Given the description of an element on the screen output the (x, y) to click on. 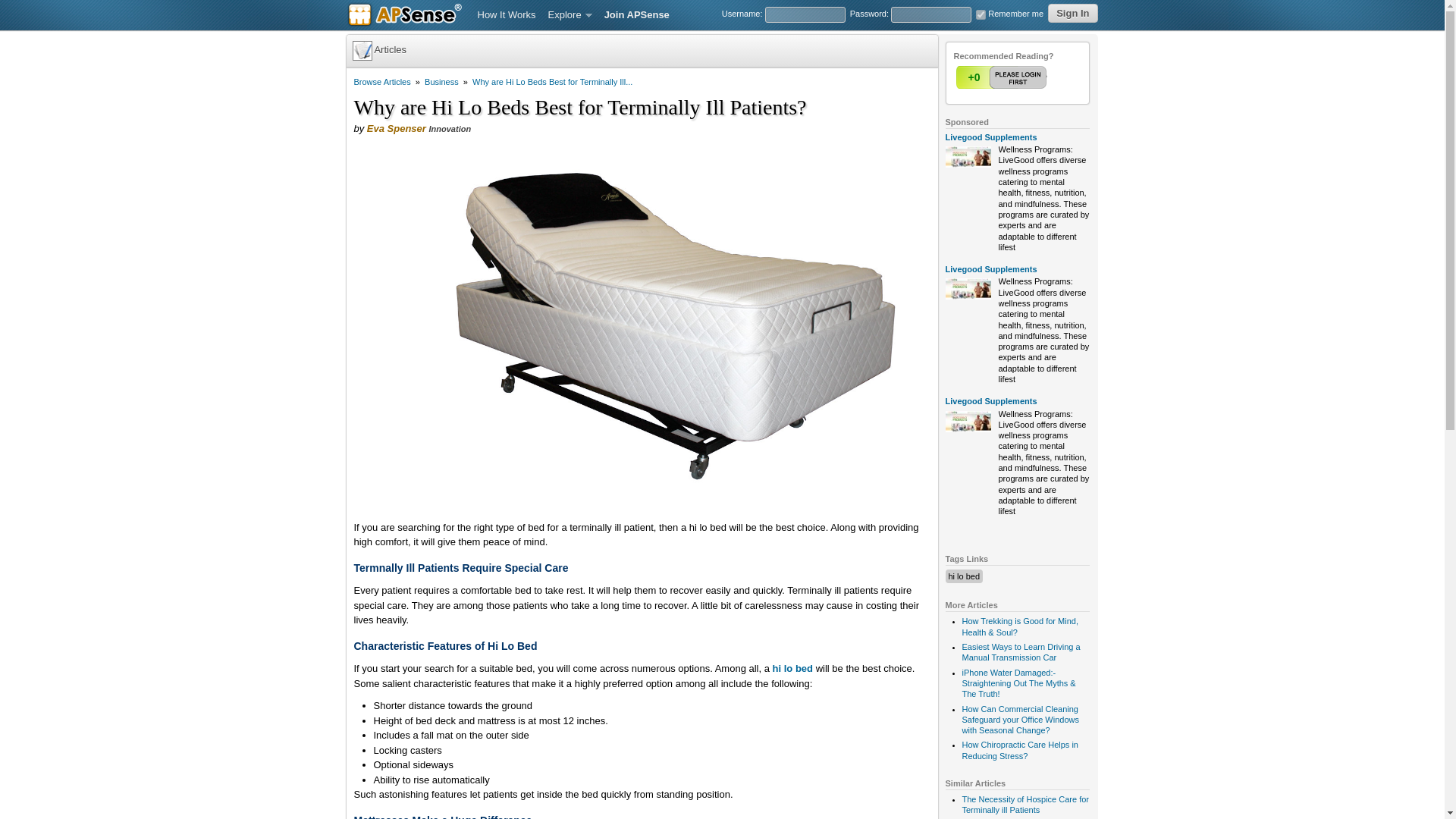
Explore (569, 15)
Livegood Supplements (990, 400)
Livegood Supplements (990, 268)
Sign In (1072, 13)
1 (980, 14)
Votes Up (973, 77)
How Chiropractic Care Helps in Reducing Stress? (1018, 750)
Eva Spenser (396, 128)
hi lo bed (963, 575)
The Necessity of Hospice Care for Terminally ill Patients (1024, 804)
Business (441, 81)
Why are Hi Lo Beds Best for Terminally Ill... (551, 81)
How It Works (506, 15)
hi lo bed (792, 668)
-1 (1031, 77)
